Given the description of an element on the screen output the (x, y) to click on. 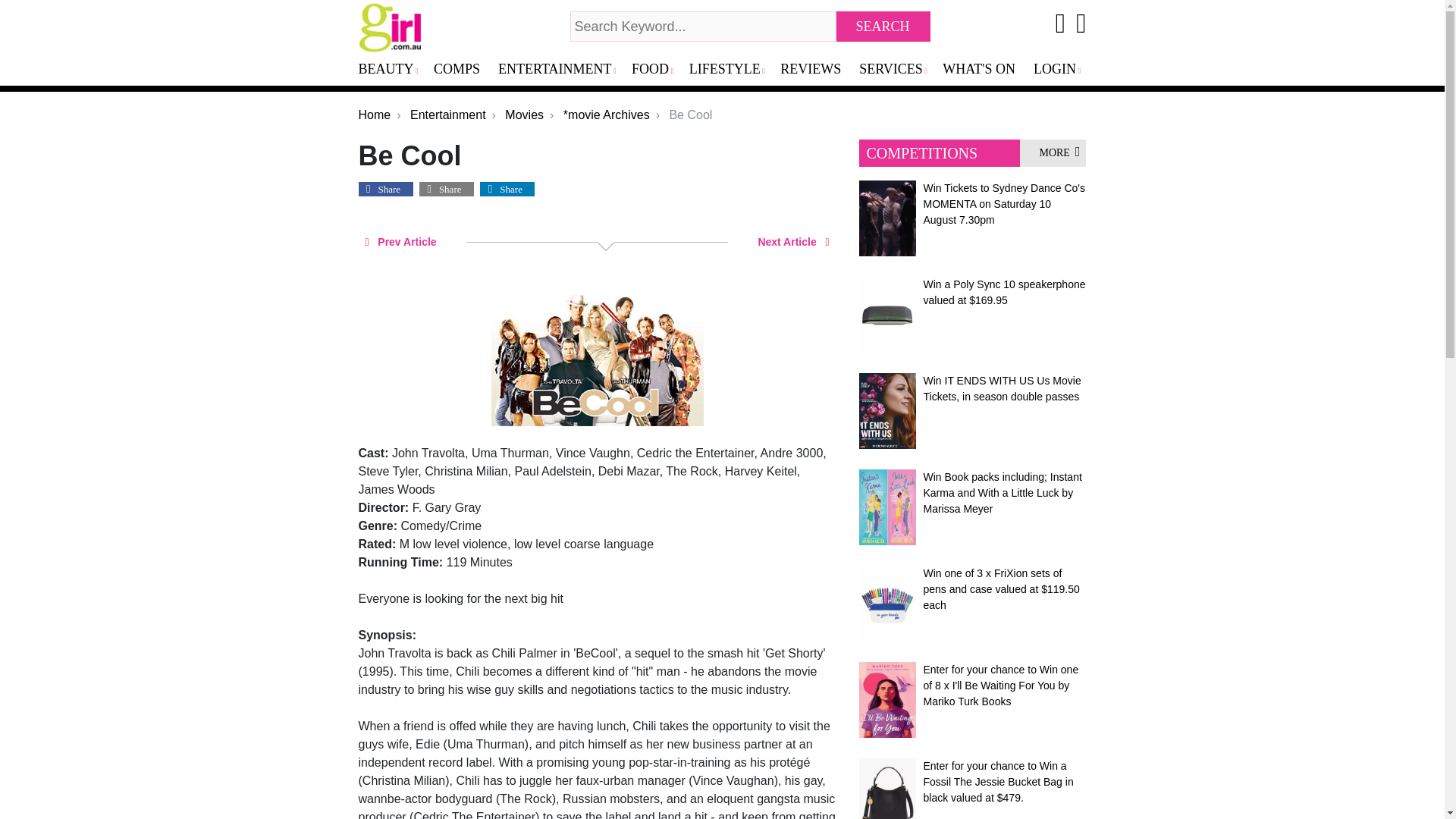
LIFESTYLE (731, 69)
SEARCH (882, 26)
FOOD (656, 69)
ENTERTAINMENT (561, 69)
COMPS (462, 69)
SEARCH (882, 26)
SEARCH (882, 26)
Next Article (793, 241)
Previous Article (400, 241)
BEAUTY (393, 69)
